Given the description of an element on the screen output the (x, y) to click on. 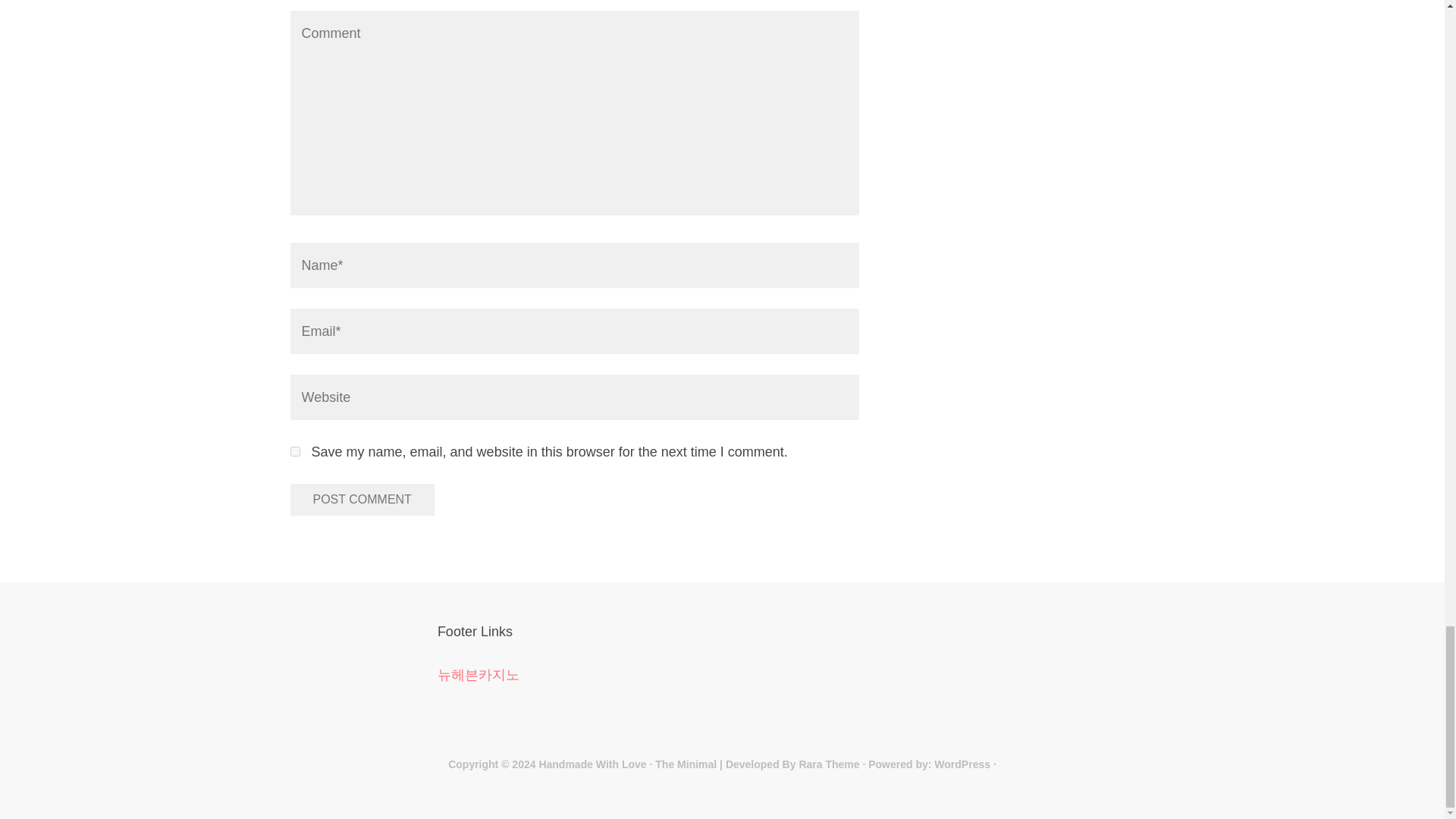
yes (294, 451)
Post Comment (361, 499)
Post Comment (361, 499)
